Given the description of an element on the screen output the (x, y) to click on. 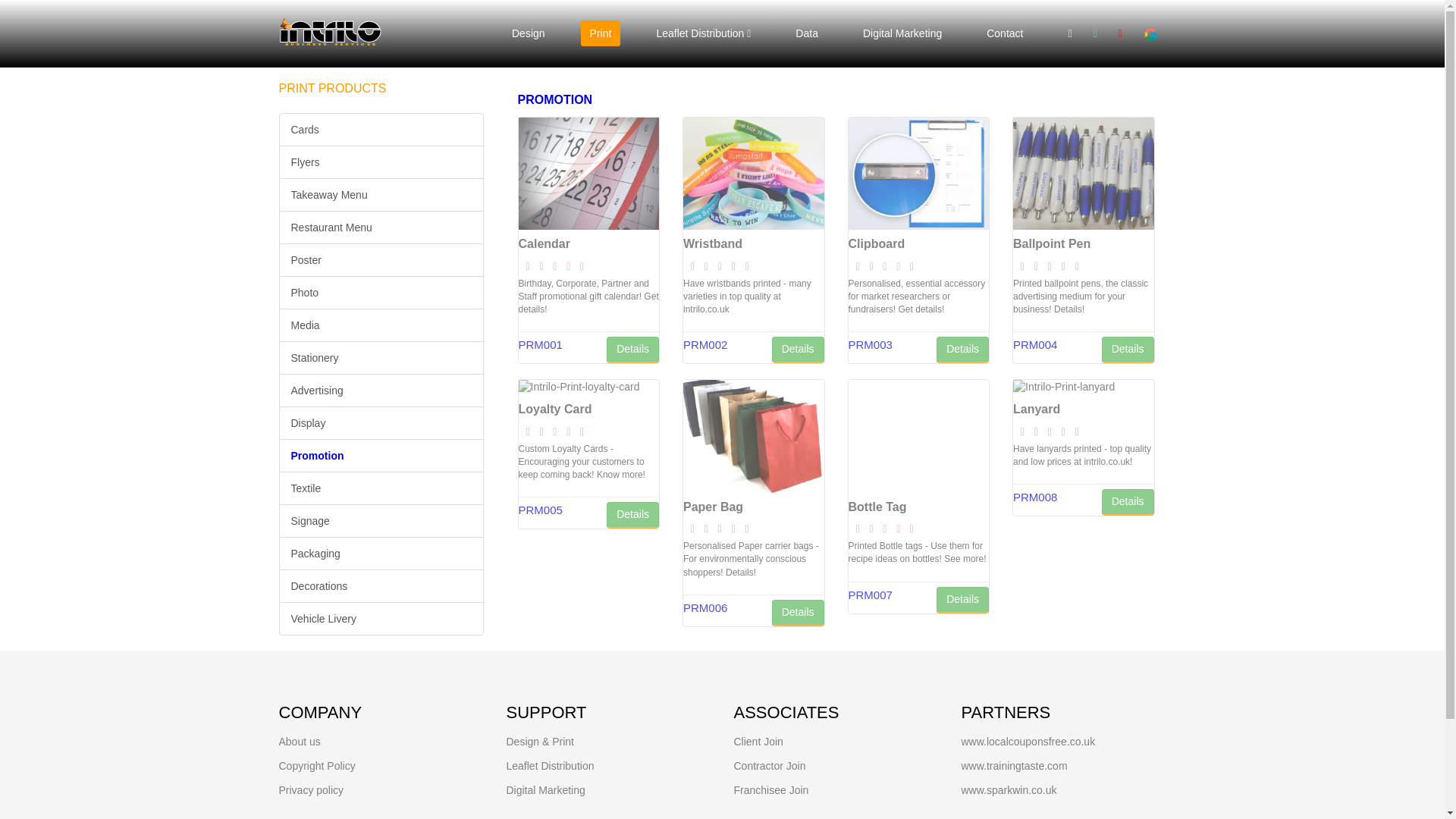
Print (600, 32)
Signage (381, 520)
Click to Open (771, 789)
Design (528, 32)
Advertising (381, 390)
Media (381, 325)
Review On Google (1150, 32)
Stationery (381, 357)
Click to Open (545, 789)
Packaging (381, 553)
Textile (381, 488)
Details (797, 349)
Click to Open (311, 789)
Takeaway Menu (381, 194)
Details (962, 349)
